Given the description of an element on the screen output the (x, y) to click on. 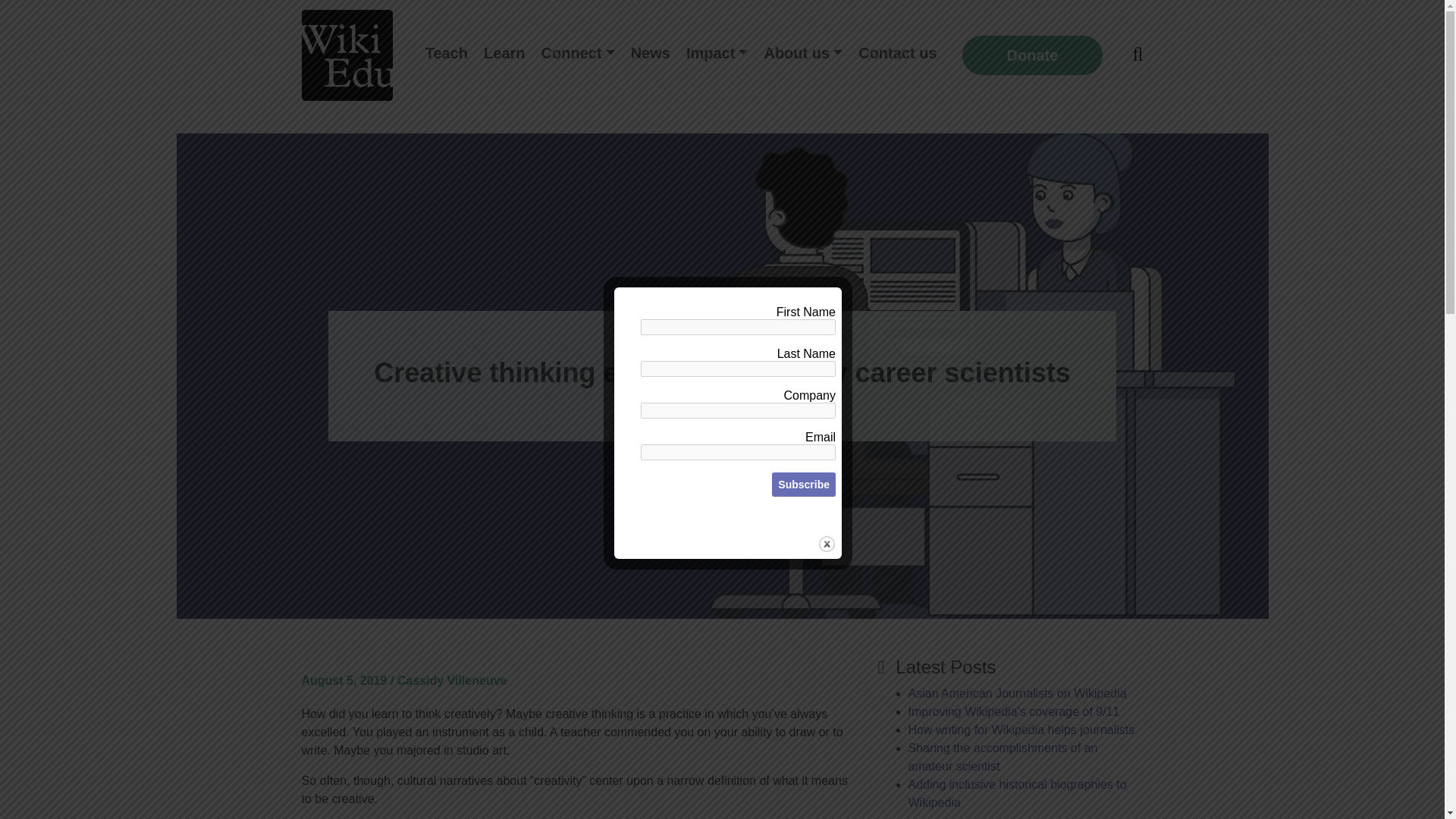
Cassidy Villeneuve (451, 680)
News (650, 53)
Learn (504, 53)
Impact (716, 53)
About us (802, 53)
News (650, 53)
Contact us (896, 53)
Teach (446, 53)
Donate (1032, 54)
Connect (578, 53)
Learn (504, 53)
About us (802, 53)
Teach (446, 53)
Connect (578, 53)
Impact (716, 53)
